Given the description of an element on the screen output the (x, y) to click on. 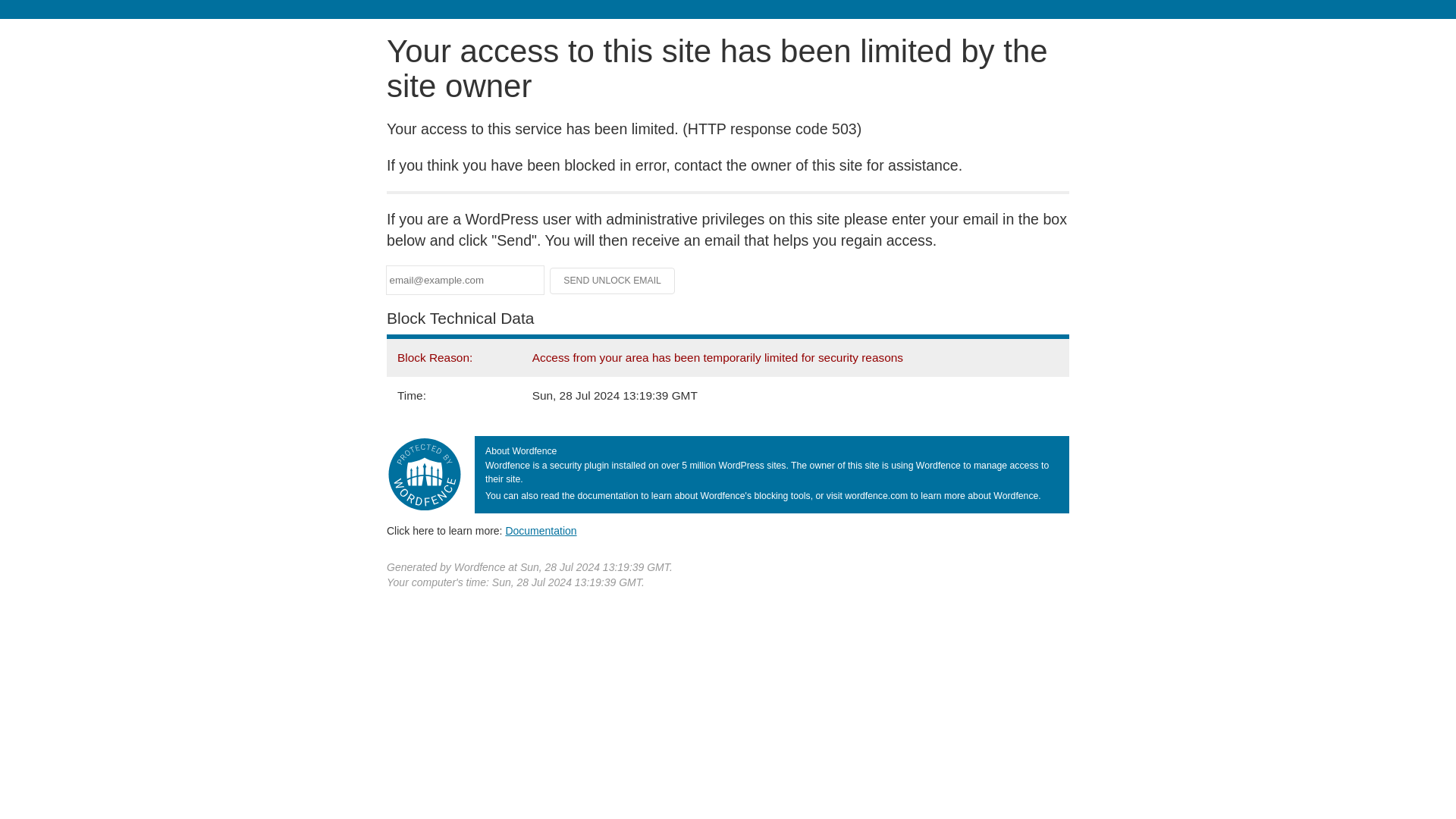
Send Unlock Email (612, 280)
Send Unlock Email (612, 280)
